Given the description of an element on the screen output the (x, y) to click on. 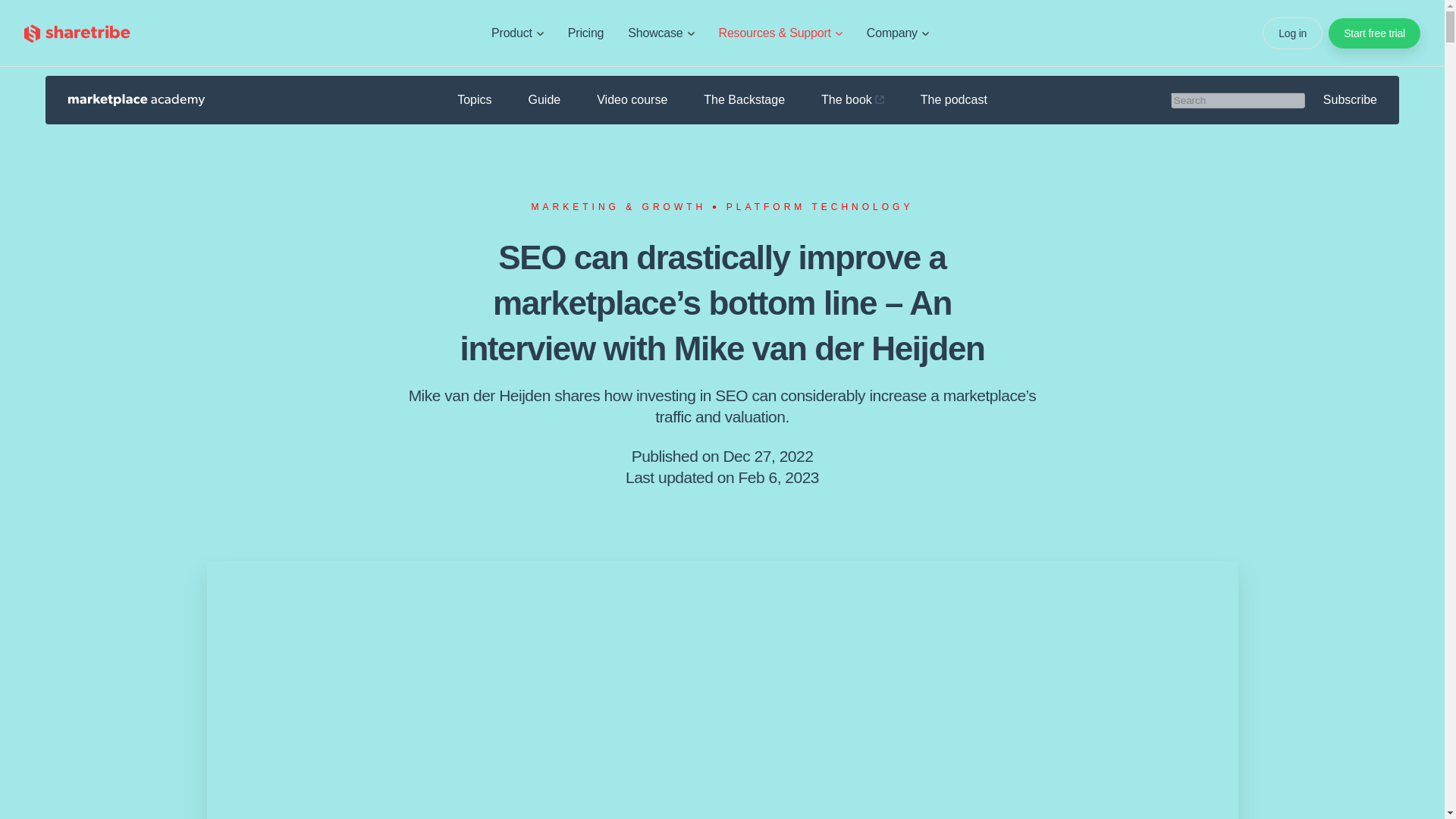
Pricing (585, 33)
The book (852, 99)
Topics (474, 99)
Log in (1292, 33)
Start free trial (1374, 33)
Video course (631, 99)
The Backstage (743, 99)
Guide (544, 99)
Showcase (660, 33)
Company (897, 33)
PLATFORM TECHNOLOGY (820, 206)
The podcast (953, 99)
Product (517, 33)
Subscribe (1350, 99)
